Given the description of an element on the screen output the (x, y) to click on. 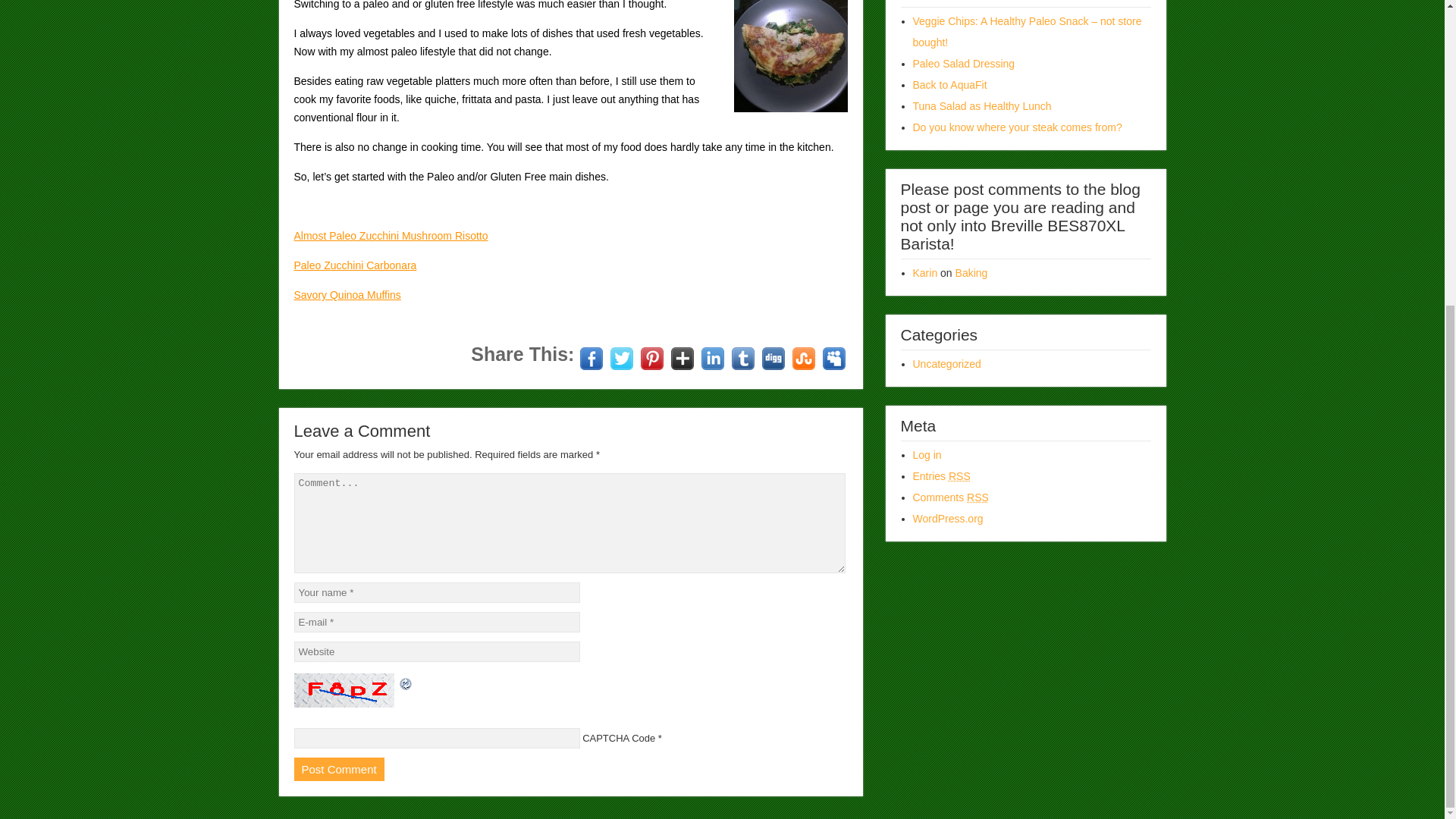
Paleo Zucchini Carbonara (355, 265)
Paleo Spinach Omelet by almostpaleo.org (790, 56)
Savory Quinoa Muffins (347, 295)
Refresh (405, 681)
Really Simple Syndication (977, 497)
CAPTCHA (345, 690)
Really Simple Syndication (960, 476)
Post Comment (339, 769)
Almost Paleo Zucchini Mushroom Risotto (390, 235)
